Given the description of an element on the screen output the (x, y) to click on. 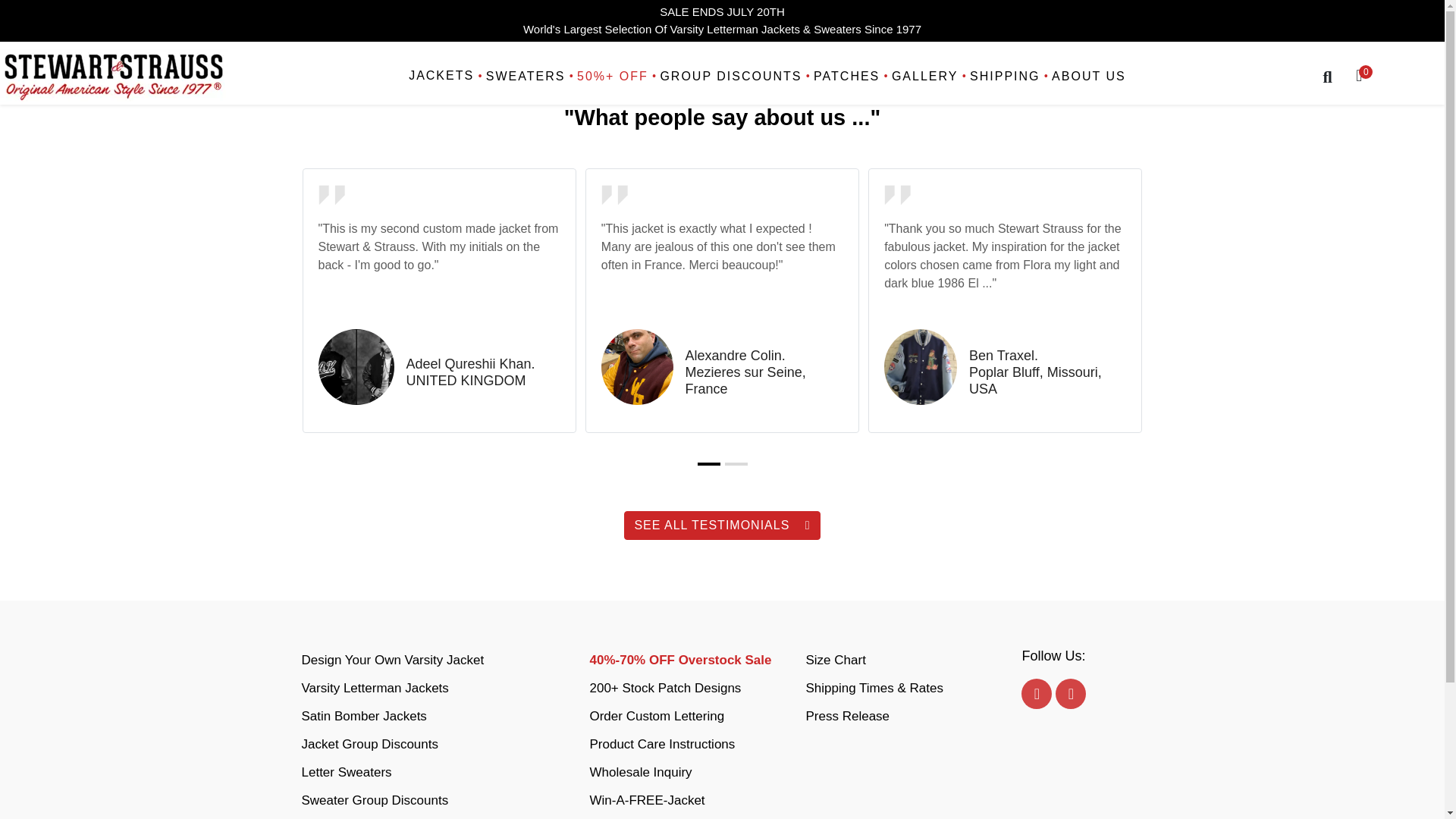
GALLERY (921, 76)
JACKETS (443, 76)
Follow us on Facebook (1036, 693)
Follow us on Instagram (1070, 693)
SWEATERS (523, 76)
SHIPPING (1001, 76)
GROUP DISCOUNTS (729, 76)
PATCHES (844, 76)
